Given the description of an element on the screen output the (x, y) to click on. 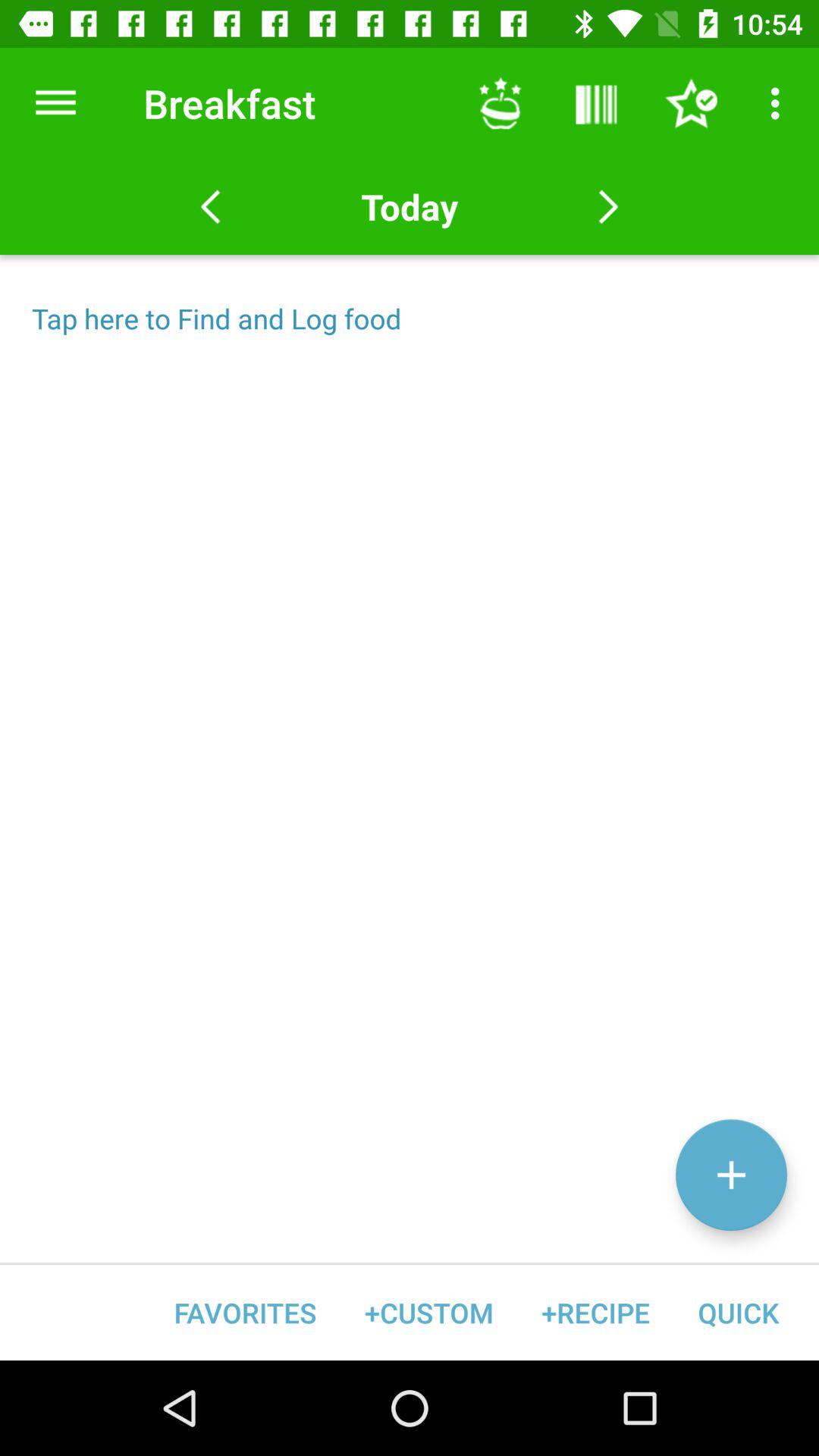
launch the icon next to the favorites item (428, 1312)
